Given the description of an element on the screen output the (x, y) to click on. 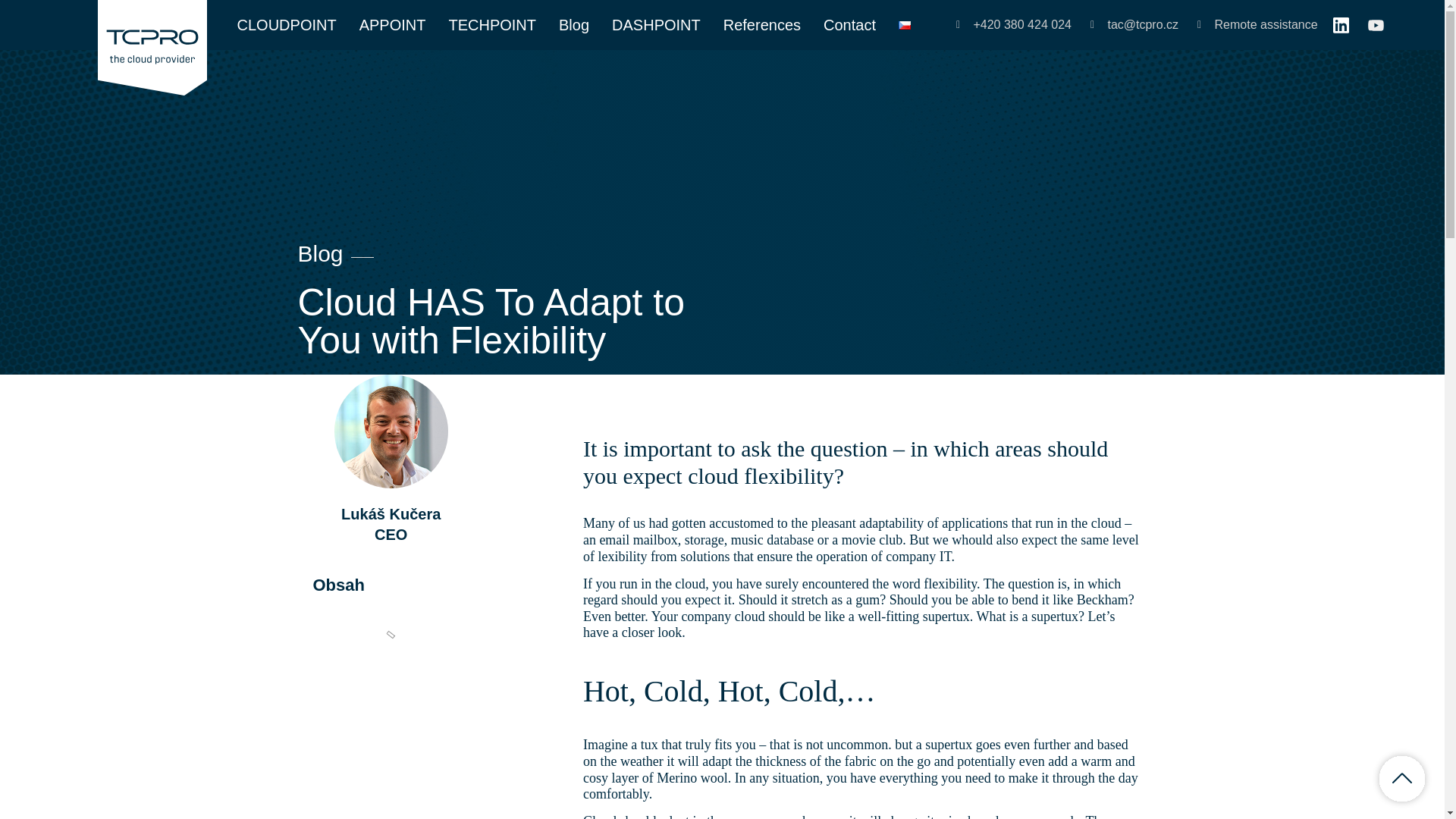
TECHPOINT (491, 24)
References (761, 24)
CLOUDPOINT (286, 24)
APPOINT (392, 24)
DASHPOINT (655, 24)
Contact (850, 24)
